Given the description of an element on the screen output the (x, y) to click on. 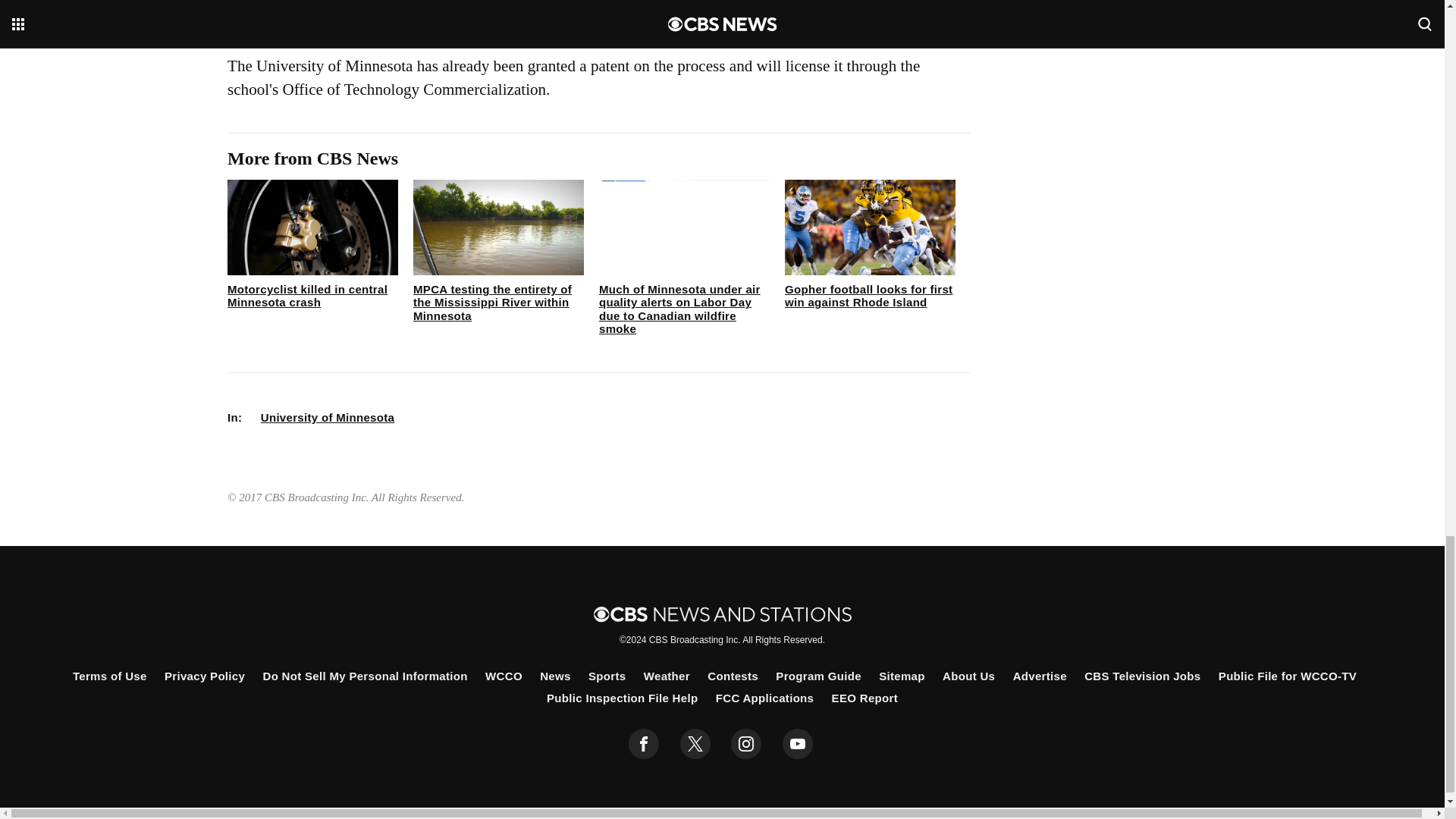
youtube (797, 743)
twitter (694, 743)
instagram (745, 743)
facebook (643, 743)
